Given the description of an element on the screen output the (x, y) to click on. 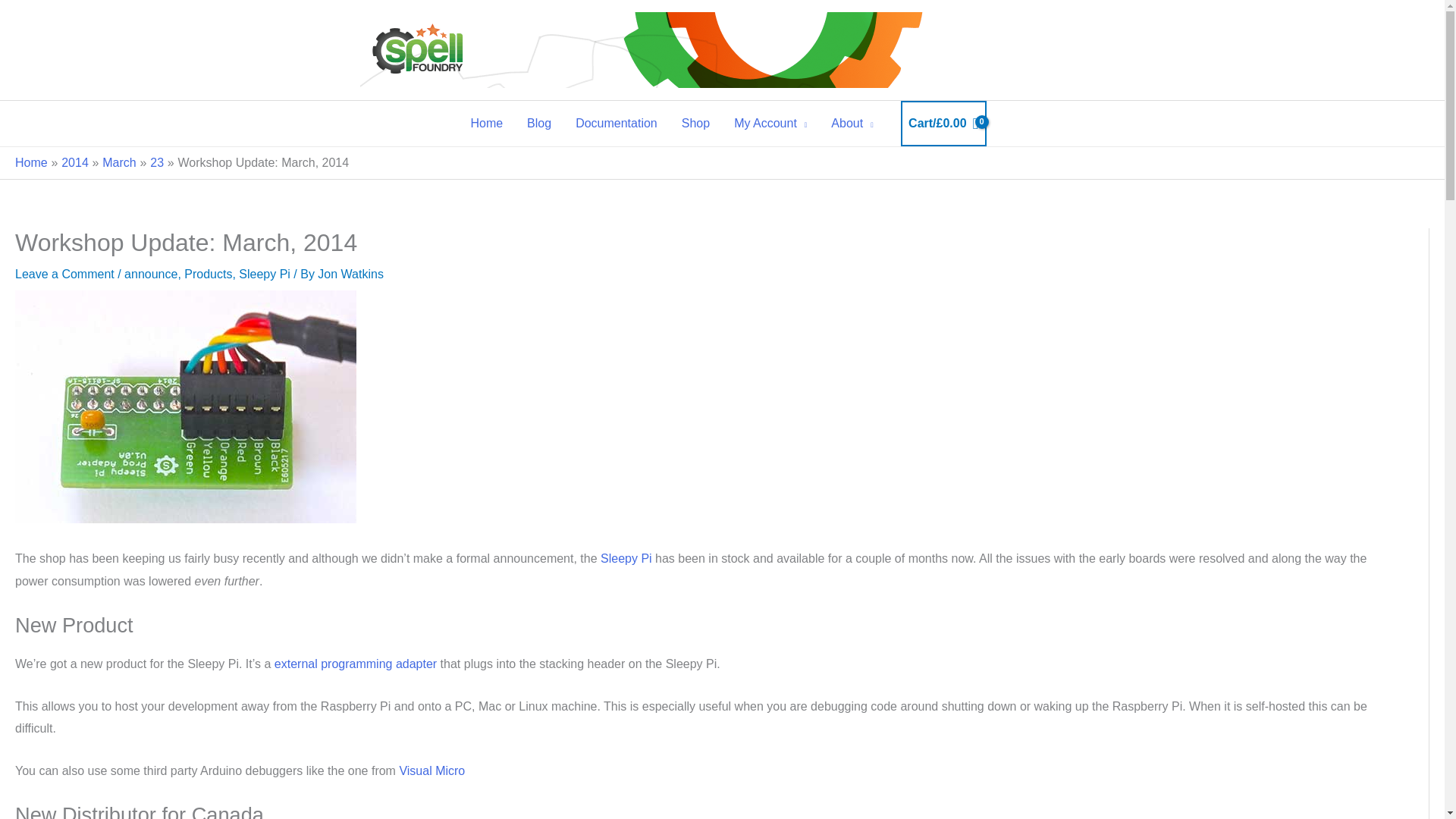
About (851, 123)
Home (31, 162)
Home (486, 123)
Sleepy Pi External Programming Adapter (355, 663)
2014 (74, 162)
View all posts by Jon Watkins (350, 273)
Leave a Comment (64, 273)
Documentation (616, 123)
Blog (539, 123)
Sleepy Pi (625, 558)
March (118, 162)
Visual Micro Debugger (431, 770)
Shop (695, 123)
23 (156, 162)
My Account (770, 123)
